Given the description of an element on the screen output the (x, y) to click on. 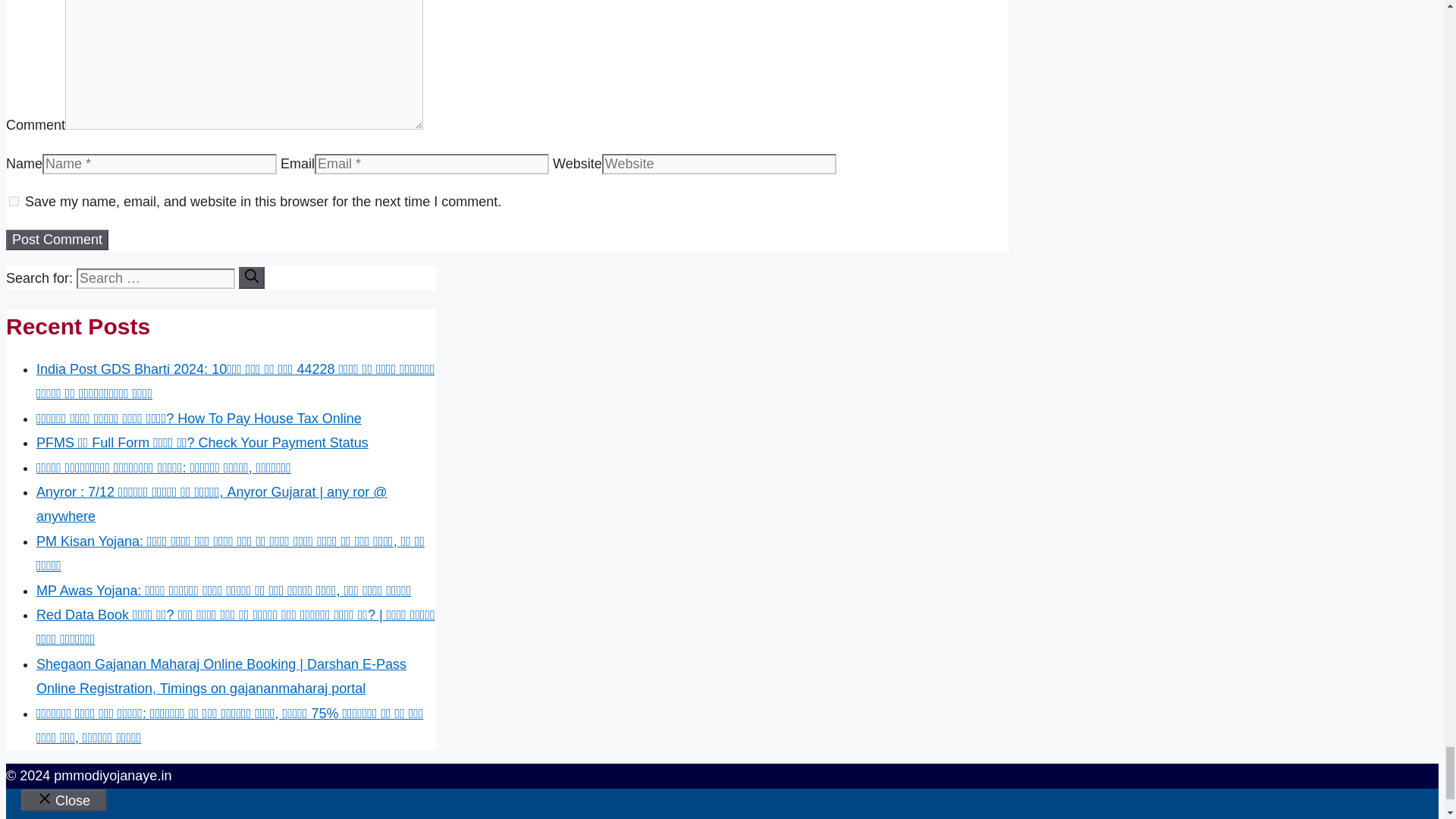
yes (13, 201)
Post Comment (56, 240)
